Given the description of an element on the screen output the (x, y) to click on. 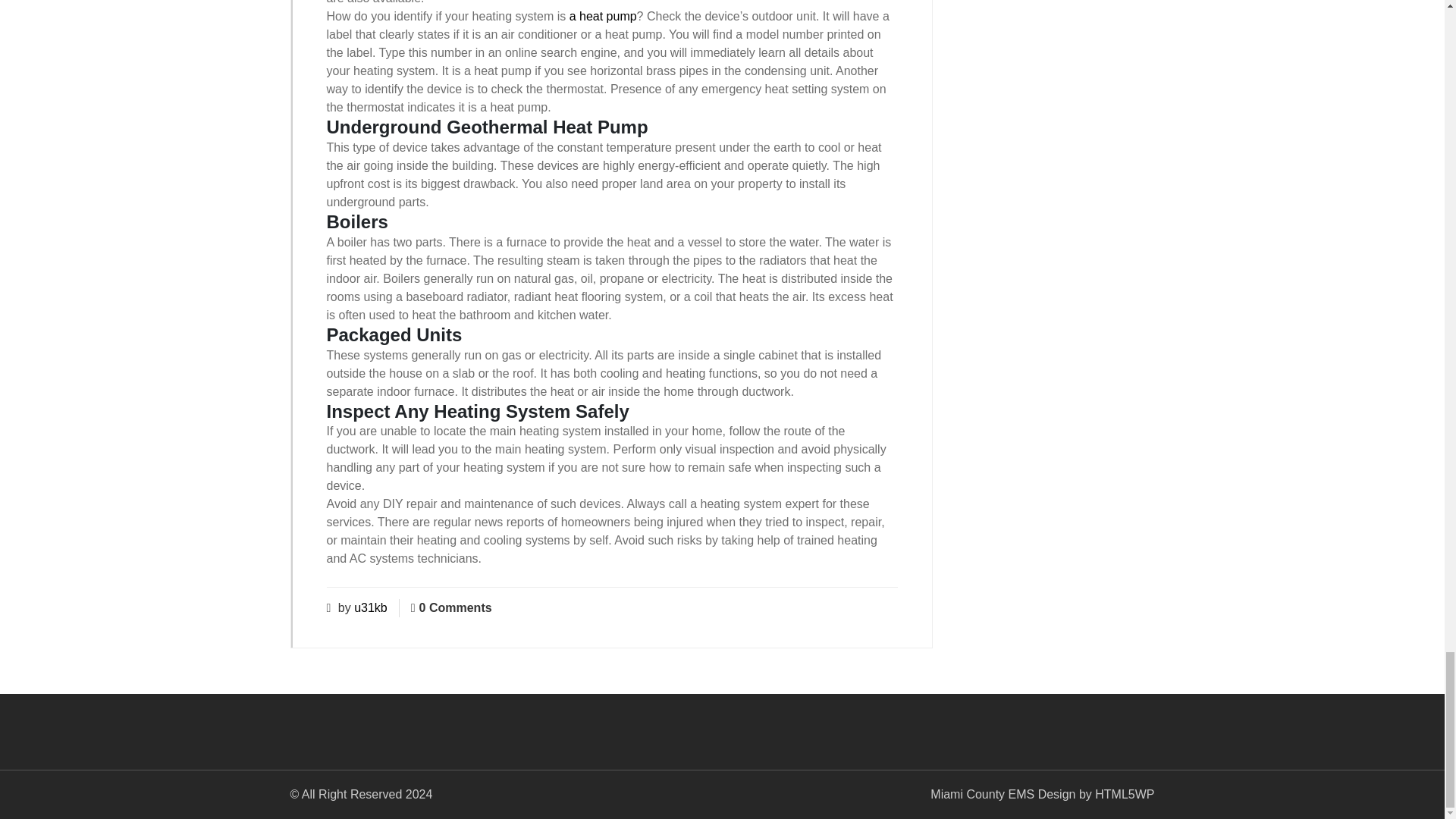
a heat pump (603, 15)
u31kb (370, 607)
HTML5WP (1124, 793)
